Given the description of an element on the screen output the (x, y) to click on. 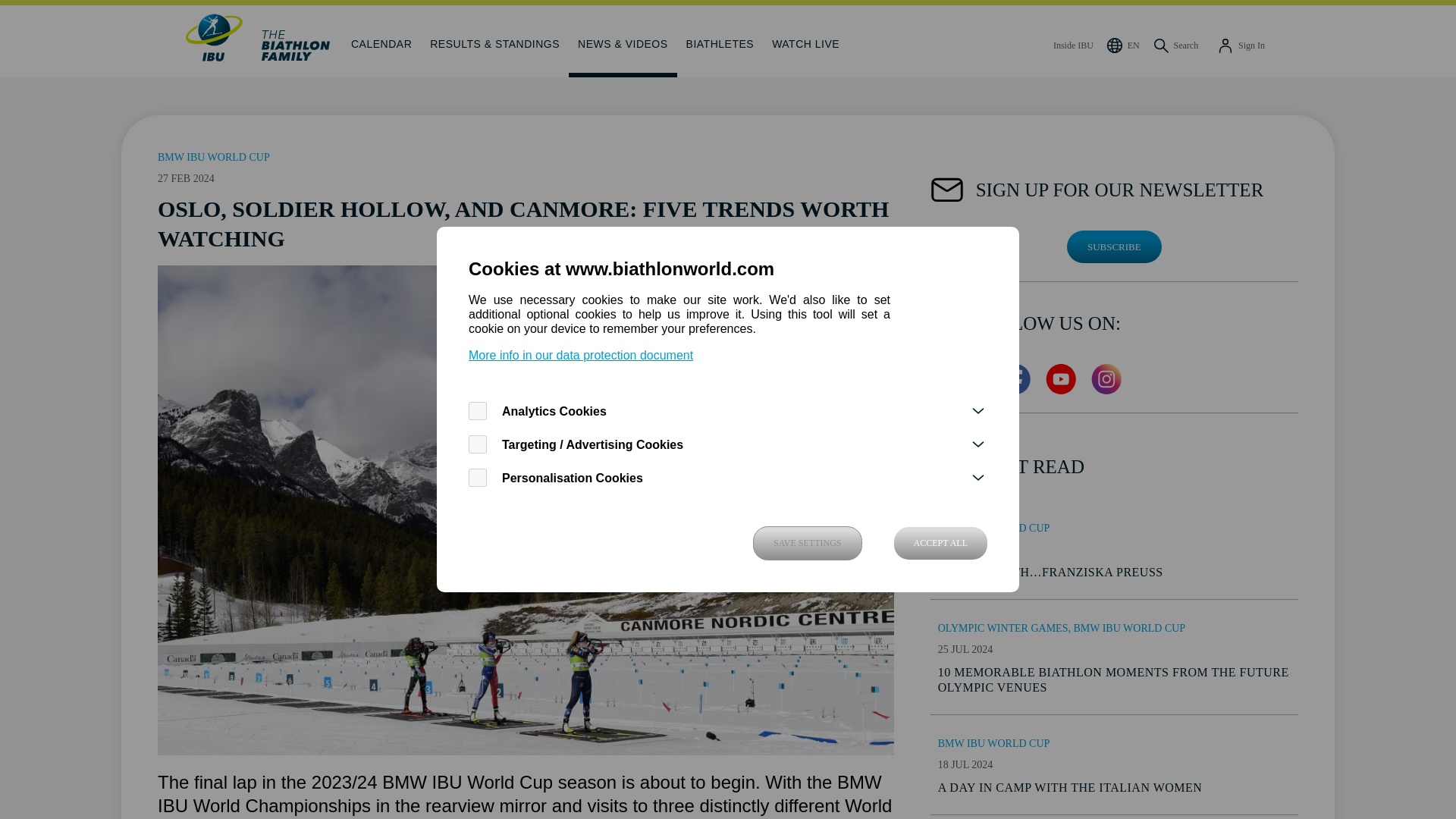
SUBSCRIBE (1114, 246)
CALENDAR (381, 40)
WATCH LIVE (805, 40)
false (477, 443)
BIATHLETES (719, 40)
false (477, 411)
Sign In (1240, 40)
false (477, 477)
